Given the description of an element on the screen output the (x, y) to click on. 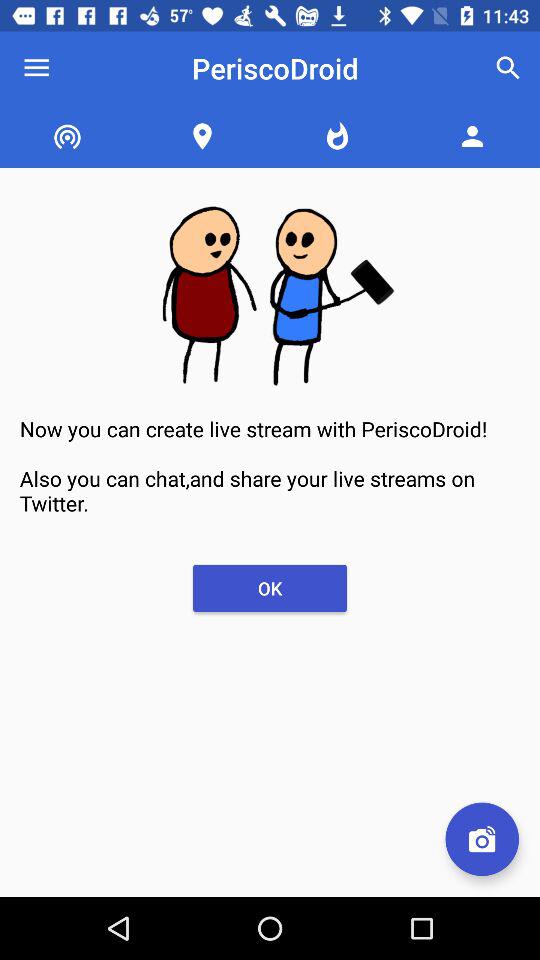
take a photo (482, 839)
